Given the description of an element on the screen output the (x, y) to click on. 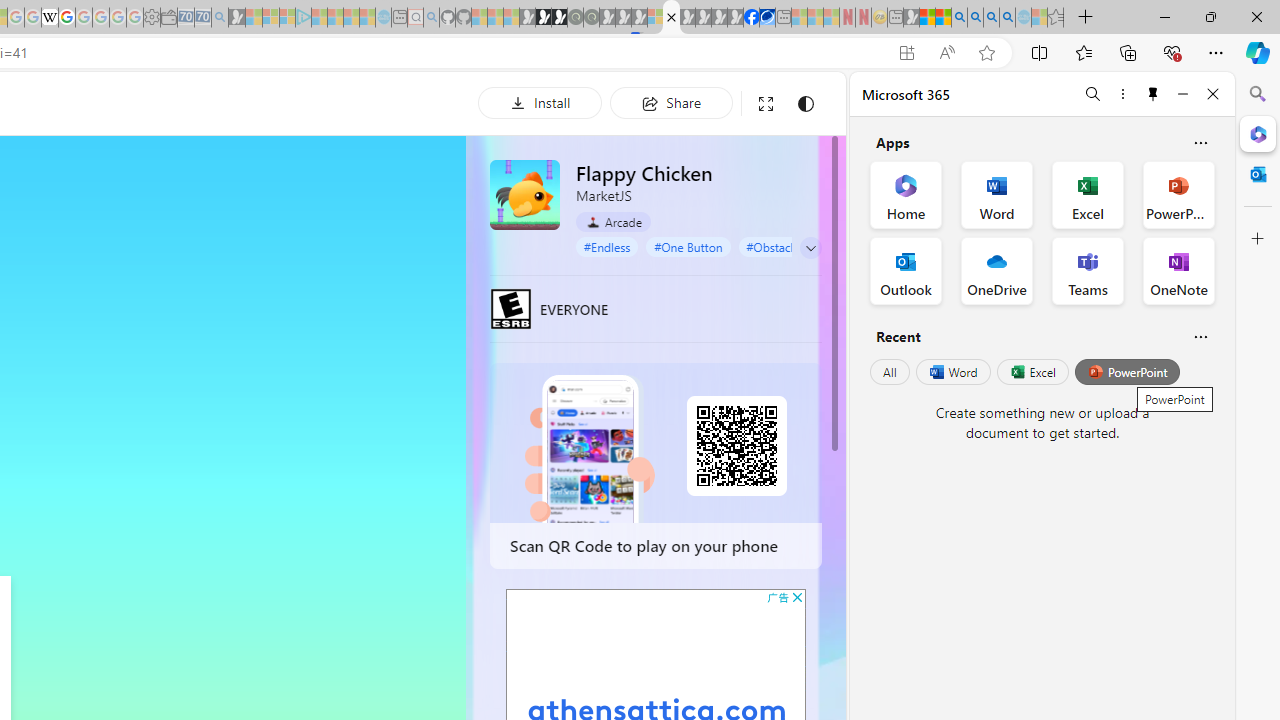
MSN - Sleeping (911, 17)
Class: control (811, 248)
#Obstacle Course (792, 246)
Share (671, 102)
#Endless (607, 246)
